Given the description of an element on the screen output the (x, y) to click on. 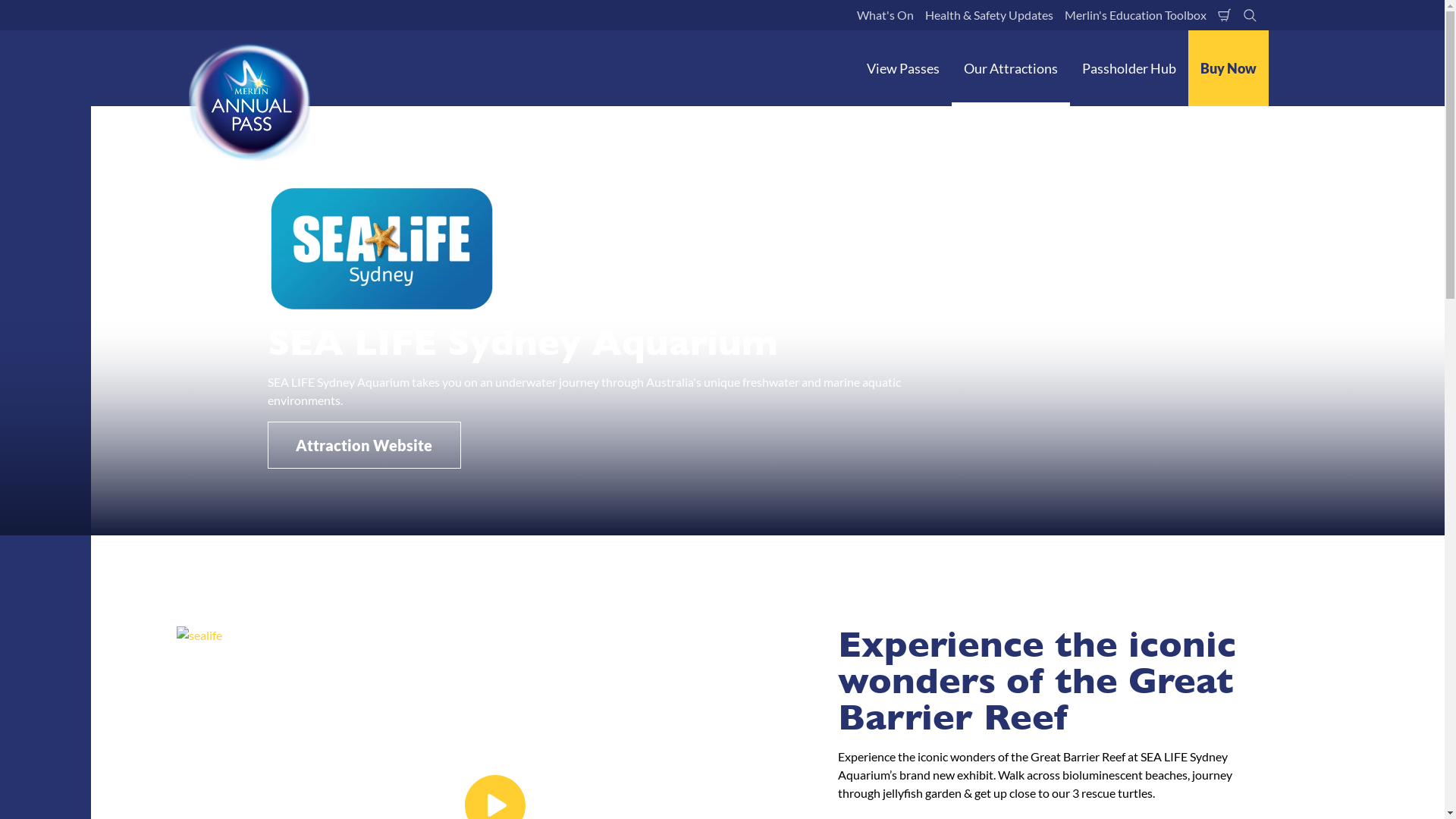
Passholder Hub Element type: text (1128, 68)
Search Element type: text (1249, 14)
Buy Now Element type: text (1227, 68)
View Passes Element type: text (901, 68)
Merlin's Education Toolbox Element type: text (1134, 15)
Attraction Website Element type: text (363, 444)
What's On Element type: text (884, 15)
Shopping Cart Element type: text (1223, 14)
Our Attractions Element type: text (1009, 68)
Health & Safety Updates Element type: text (988, 15)
